Given the description of an element on the screen output the (x, y) to click on. 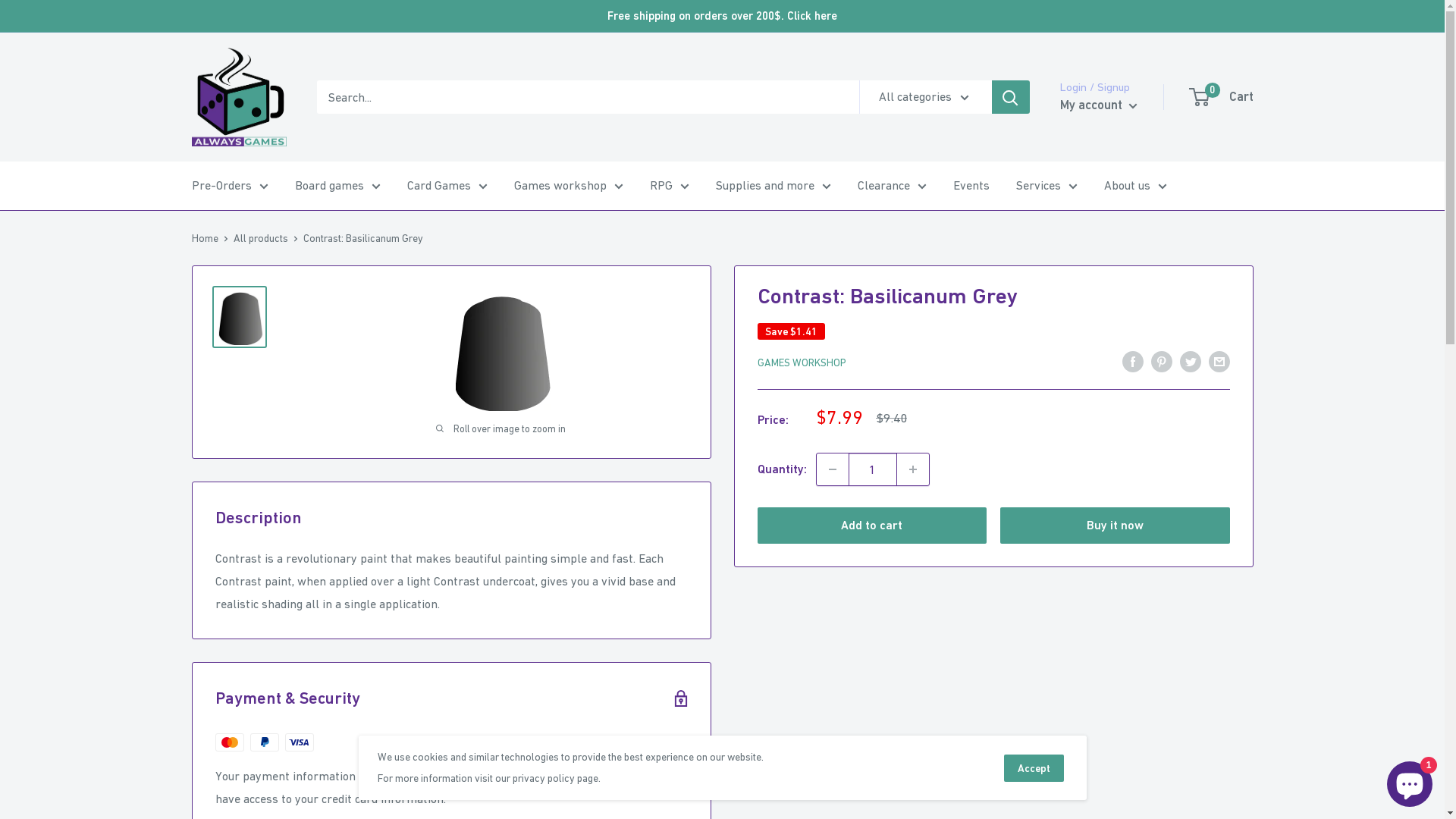
Free shipping on orders over 200$. Click here Element type: text (722, 15)
GAMES WORKSHOP Element type: text (800, 362)
Clearance Element type: text (890, 185)
Board games Element type: text (336, 185)
Buy it now Element type: text (1115, 525)
About us Element type: text (1135, 185)
All products Element type: text (260, 238)
Accept Element type: text (1033, 767)
Decrease quantity by 1 Element type: hover (831, 469)
Pre-Orders Element type: text (229, 185)
0
Cart Element type: text (1221, 96)
Always games Element type: text (238, 96)
Supplies and more Element type: text (773, 185)
Services Element type: text (1046, 185)
Add to cart Element type: text (871, 525)
RPG Element type: text (668, 185)
Increase quantity by 1 Element type: hover (912, 469)
Shopify online store chat Element type: hover (1409, 780)
Card Games Element type: text (446, 185)
Games workshop Element type: text (568, 185)
My account Element type: text (1098, 105)
Events Element type: text (970, 185)
Home Element type: text (204, 238)
